Given the description of an element on the screen output the (x, y) to click on. 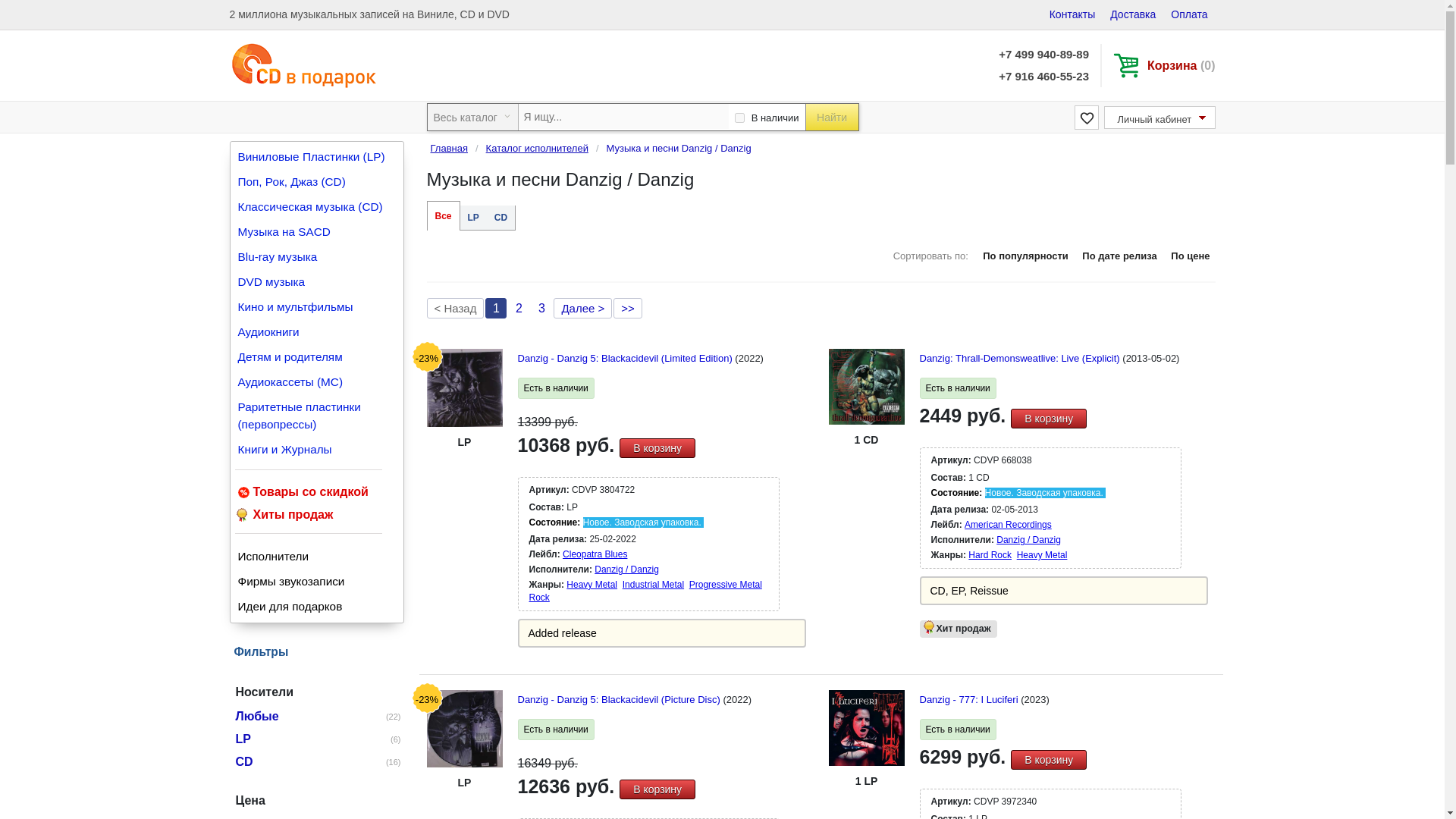
1 (739, 117)
